Given the description of an element on the screen output the (x, y) to click on. 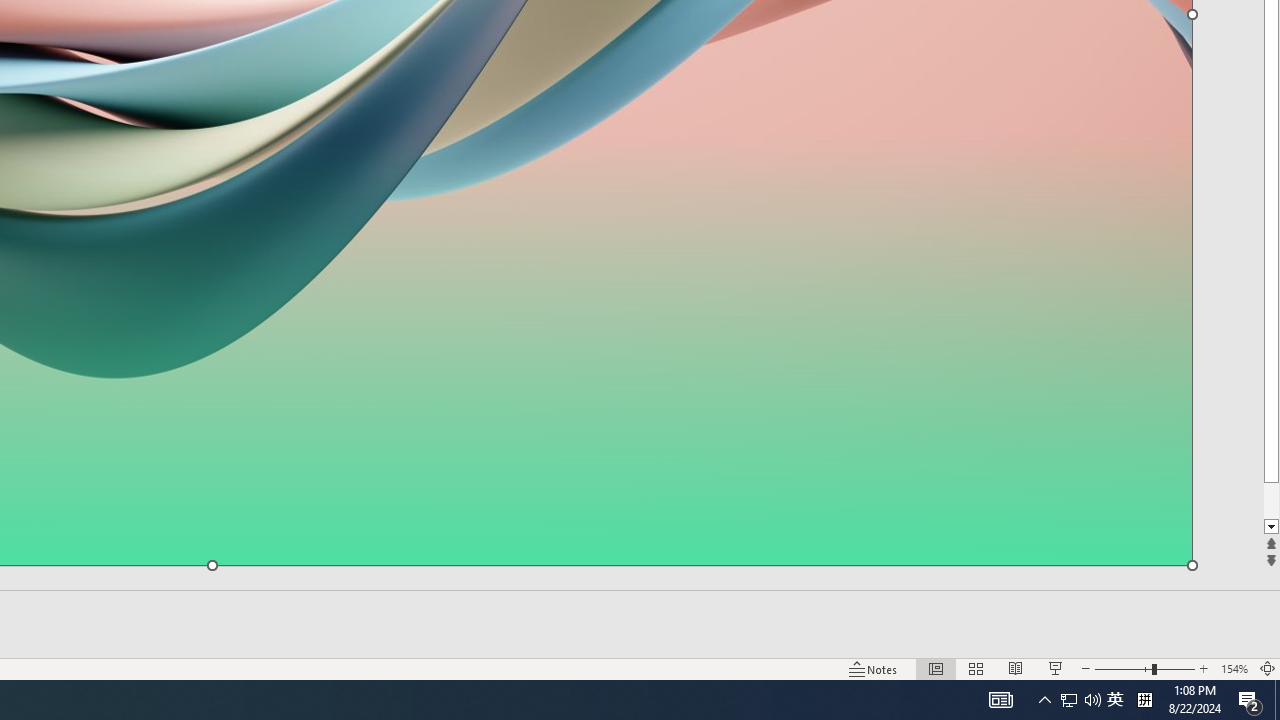
Zoom 154% (1234, 668)
Line down (1271, 527)
Page down (1271, 492)
